Given the description of an element on the screen output the (x, y) to click on. 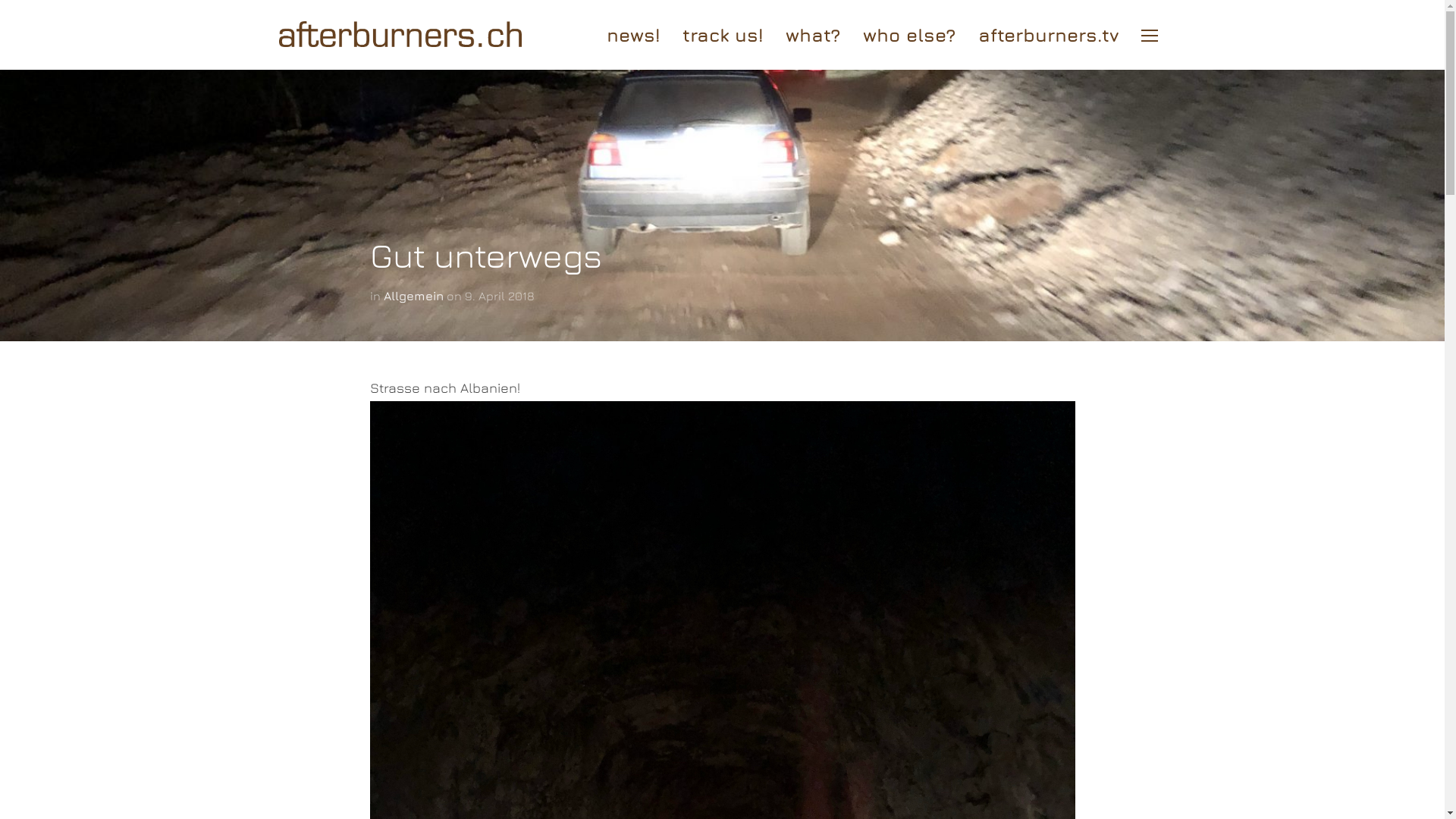
news! Element type: text (632, 34)
TOGGLE SIDEBAR & NAVIGATION Element type: text (1149, 35)
Allgemein Element type: text (413, 295)
afterburners.tv Element type: text (1048, 34)
track us! Element type: text (722, 34)
who else? Element type: text (908, 34)
what? Element type: text (812, 34)
